Given the description of an element on the screen output the (x, y) to click on. 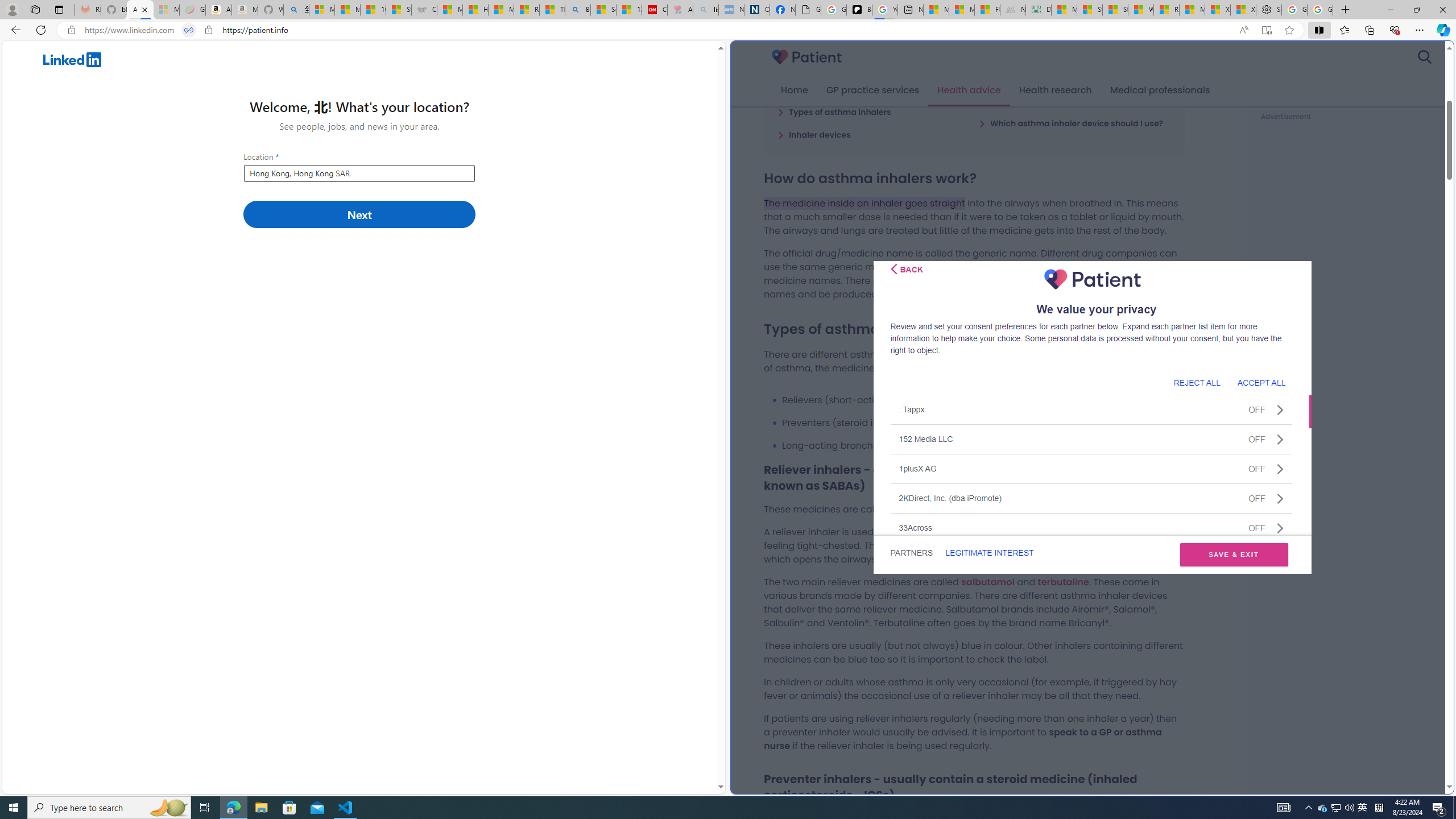
Asthma Inhalers: Names and Types (140, 9)
Health advice (969, 90)
Class: css-jswnc6 (1280, 527)
12 Popular Science Lies that Must be Corrected (628, 9)
How do asthma inhalers work? (844, 88)
salbutamol (987, 581)
